Given the description of an element on the screen output the (x, y) to click on. 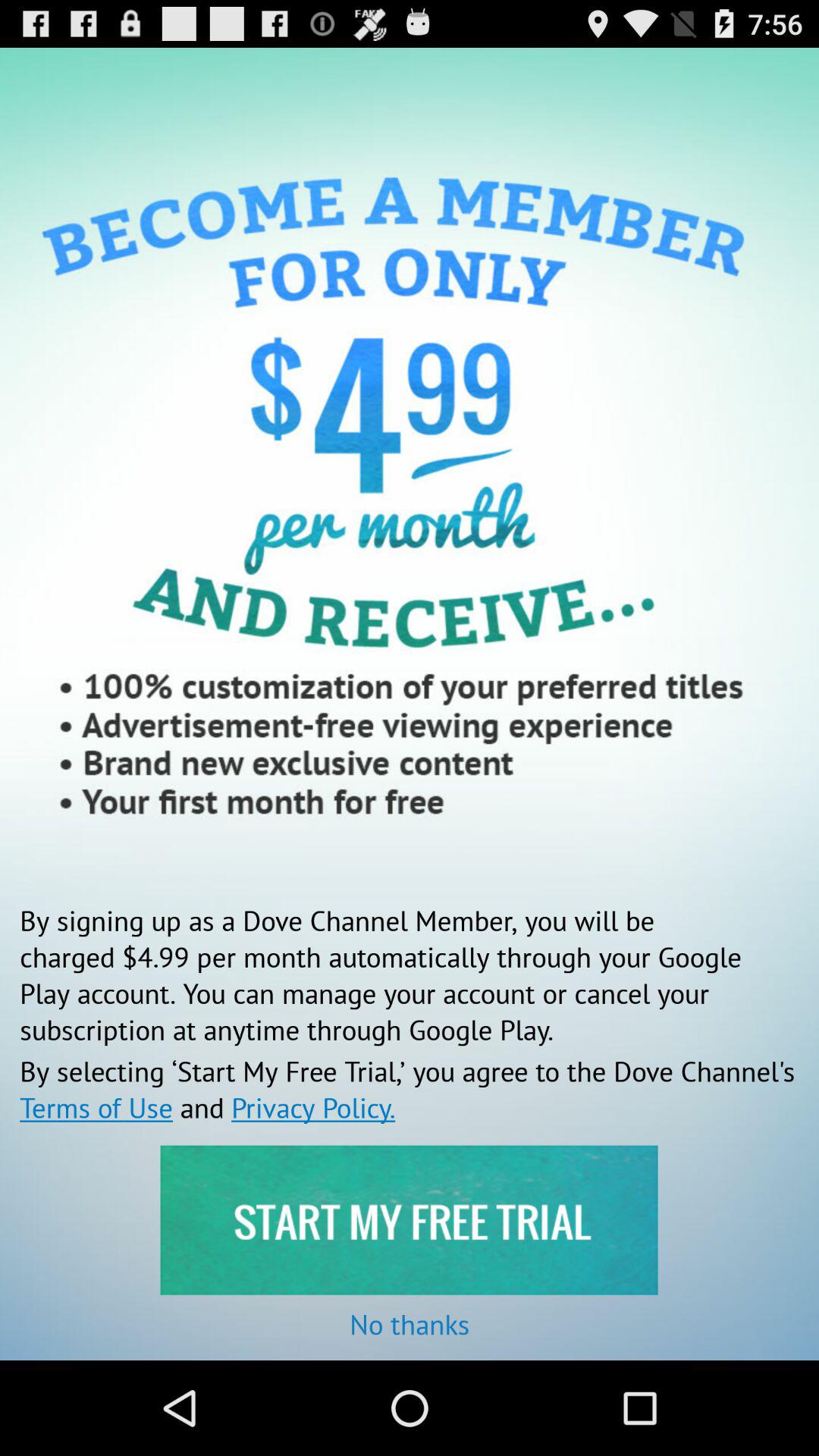
start (409, 1220)
